Given the description of an element on the screen output the (x, y) to click on. 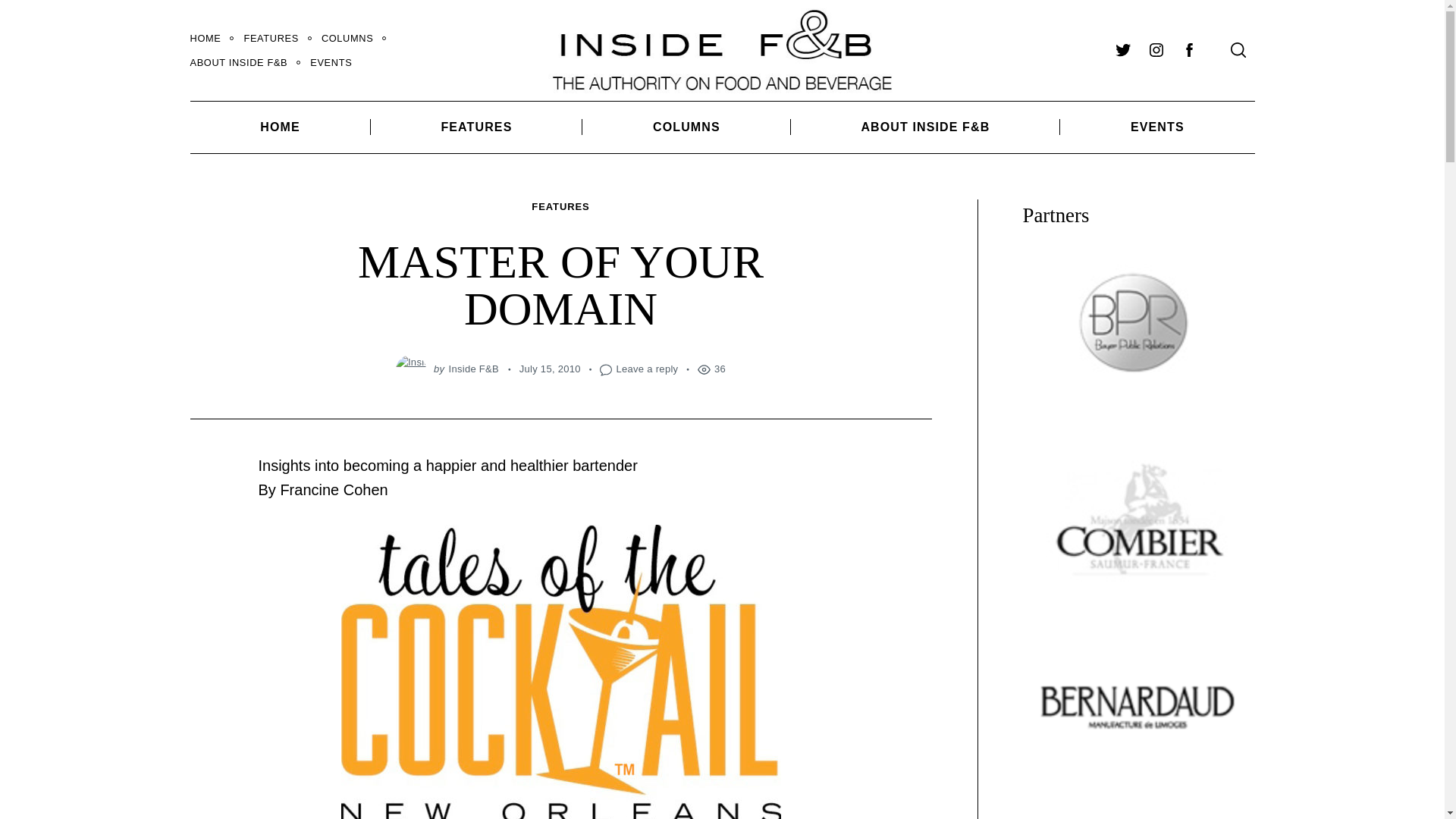
EVENTS (1156, 126)
Tales of the Cocktail 2010 logo (560, 671)
Facebook (1188, 49)
HOME (279, 126)
FEATURES (477, 126)
Leave a reply (646, 368)
Twitter (1121, 49)
COLUMNS (686, 126)
FEATURES (560, 207)
Instagram (1155, 49)
EVENTS (331, 61)
